Given the description of an element on the screen output the (x, y) to click on. 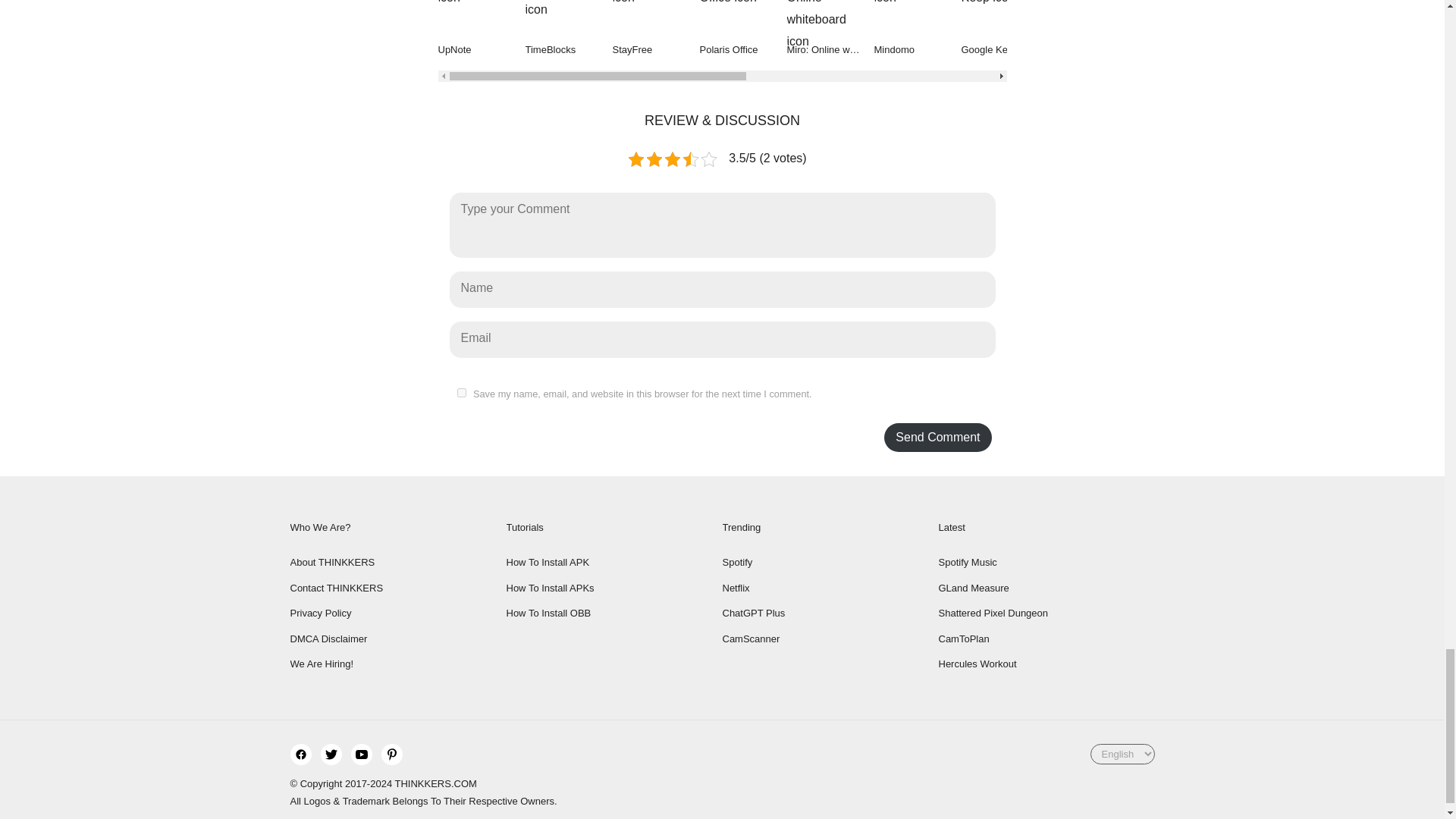
yes (461, 392)
Mindomo (916, 29)
Miro: Online whiteboard (831, 29)
StayFree (656, 29)
TimeBlocks (567, 29)
UpNote (481, 29)
Polaris Office (742, 29)
